Given the description of an element on the screen output the (x, y) to click on. 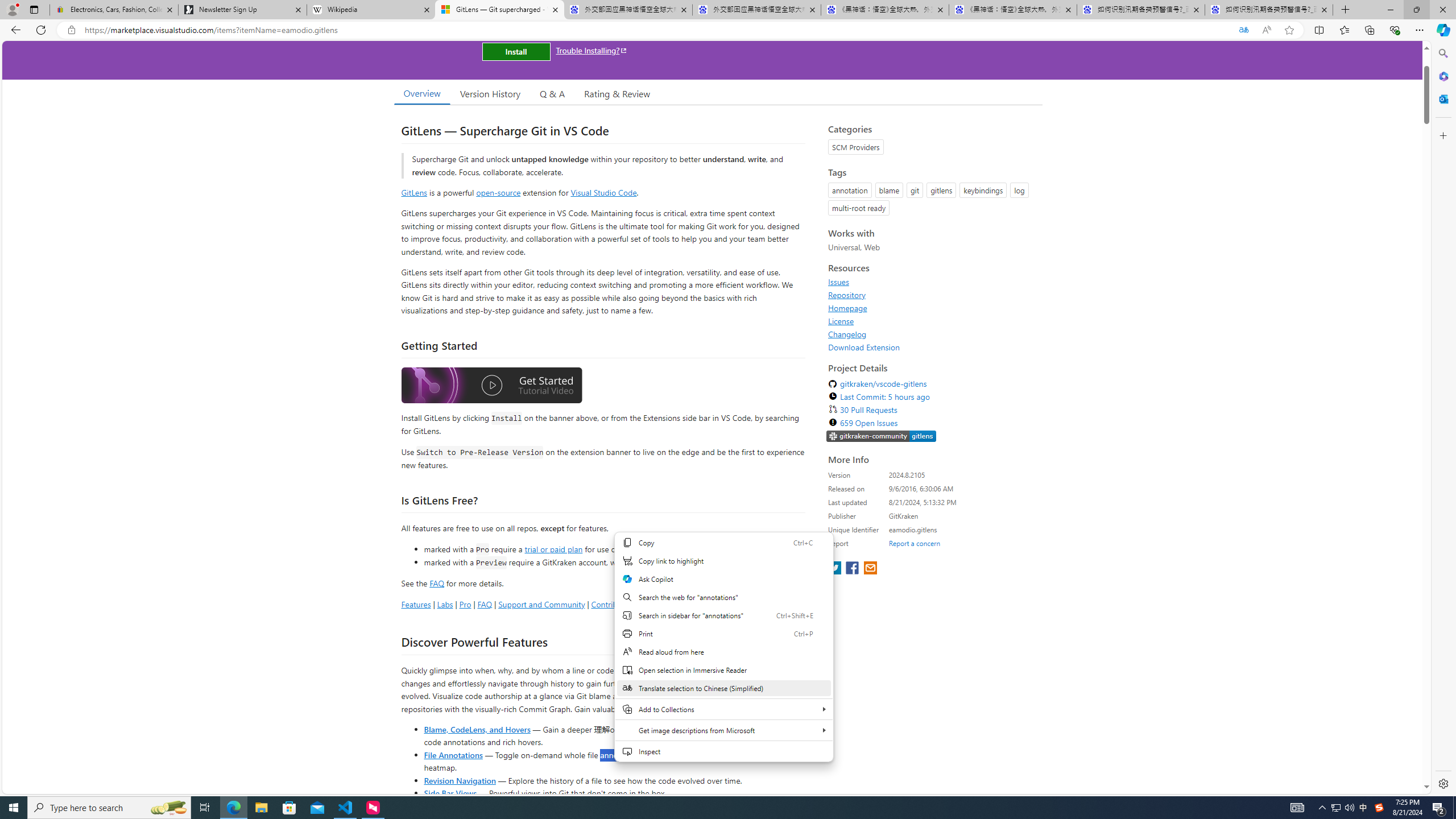
Blame, CodeLens, and Hovers (476, 728)
Rating & Review (618, 92)
plan (730, 562)
Support and Community (541, 603)
Pro (464, 603)
https://slack.gitkraken.com// (881, 436)
File Annotations (453, 754)
Web context (723, 646)
